Given the description of an element on the screen output the (x, y) to click on. 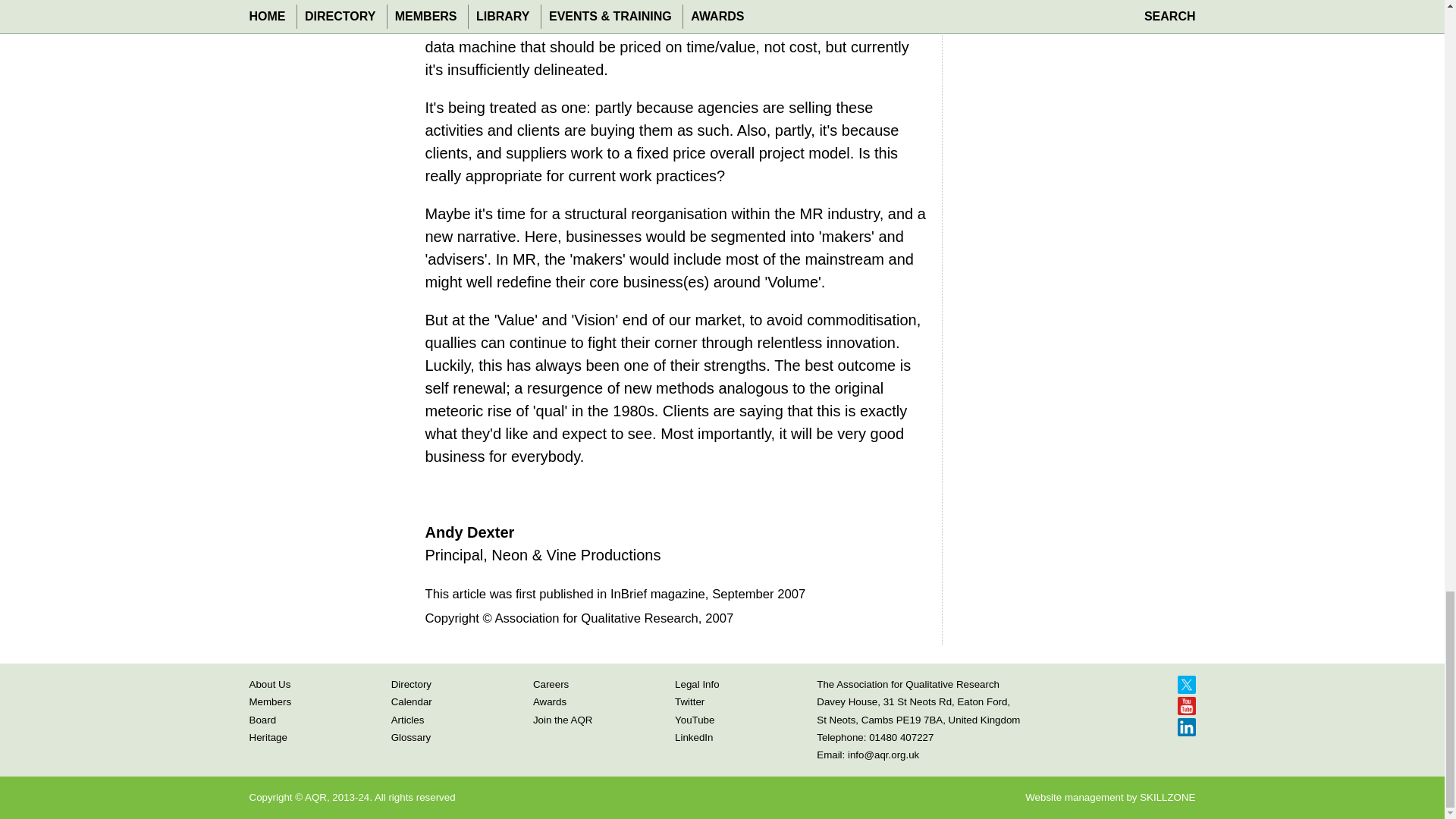
Board (262, 719)
Directory (410, 684)
About Us (268, 684)
Members (269, 701)
Articles (408, 719)
Awards (549, 701)
Careers (550, 684)
Glossary (410, 737)
Calendar (411, 701)
Heritage (267, 737)
